Given the description of an element on the screen output the (x, y) to click on. 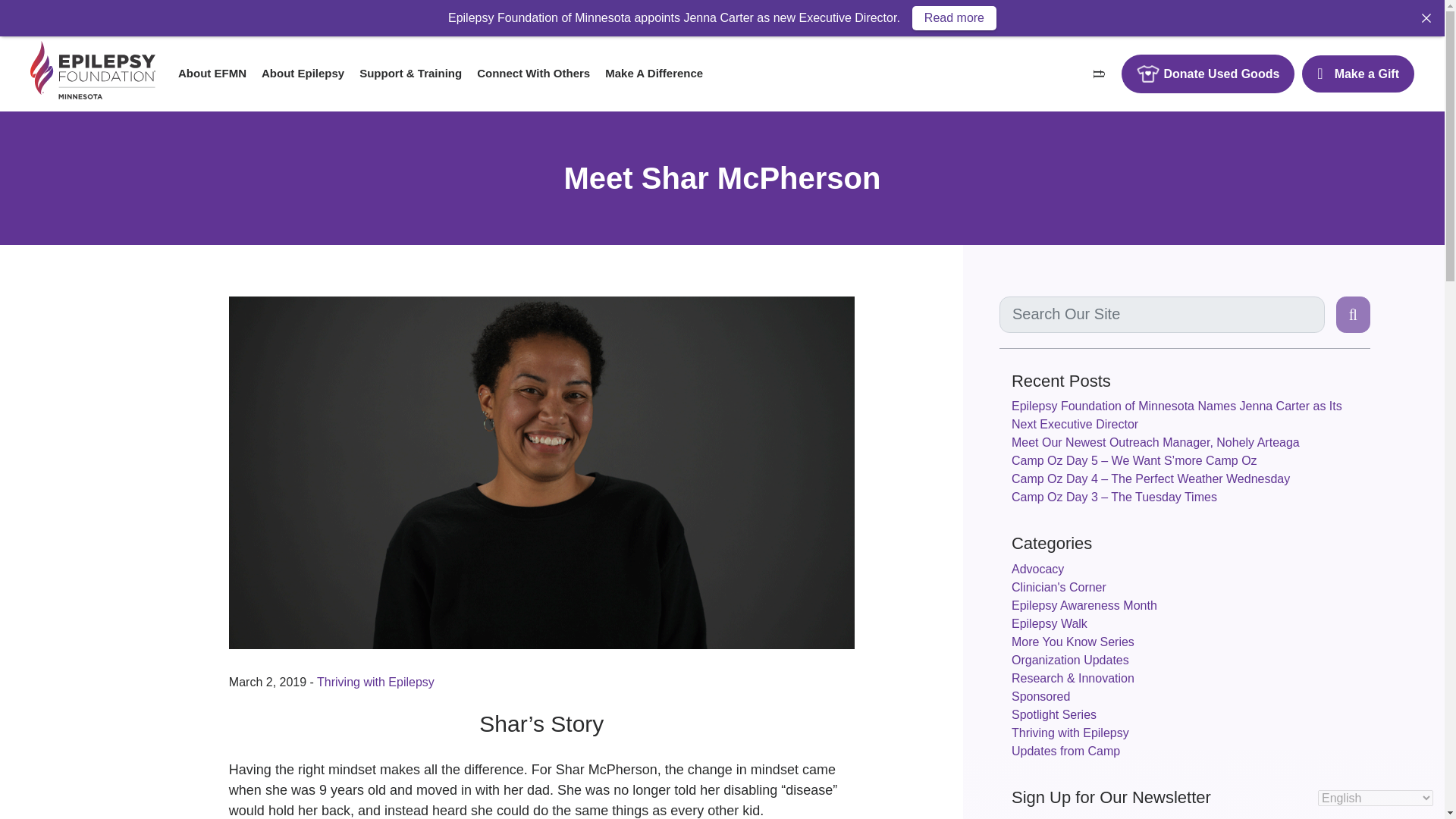
About EFMN (211, 73)
Close (1425, 17)
About Epilepsy (303, 73)
Make A Difference (653, 73)
Connect With Others (532, 73)
